Given the description of an element on the screen output the (x, y) to click on. 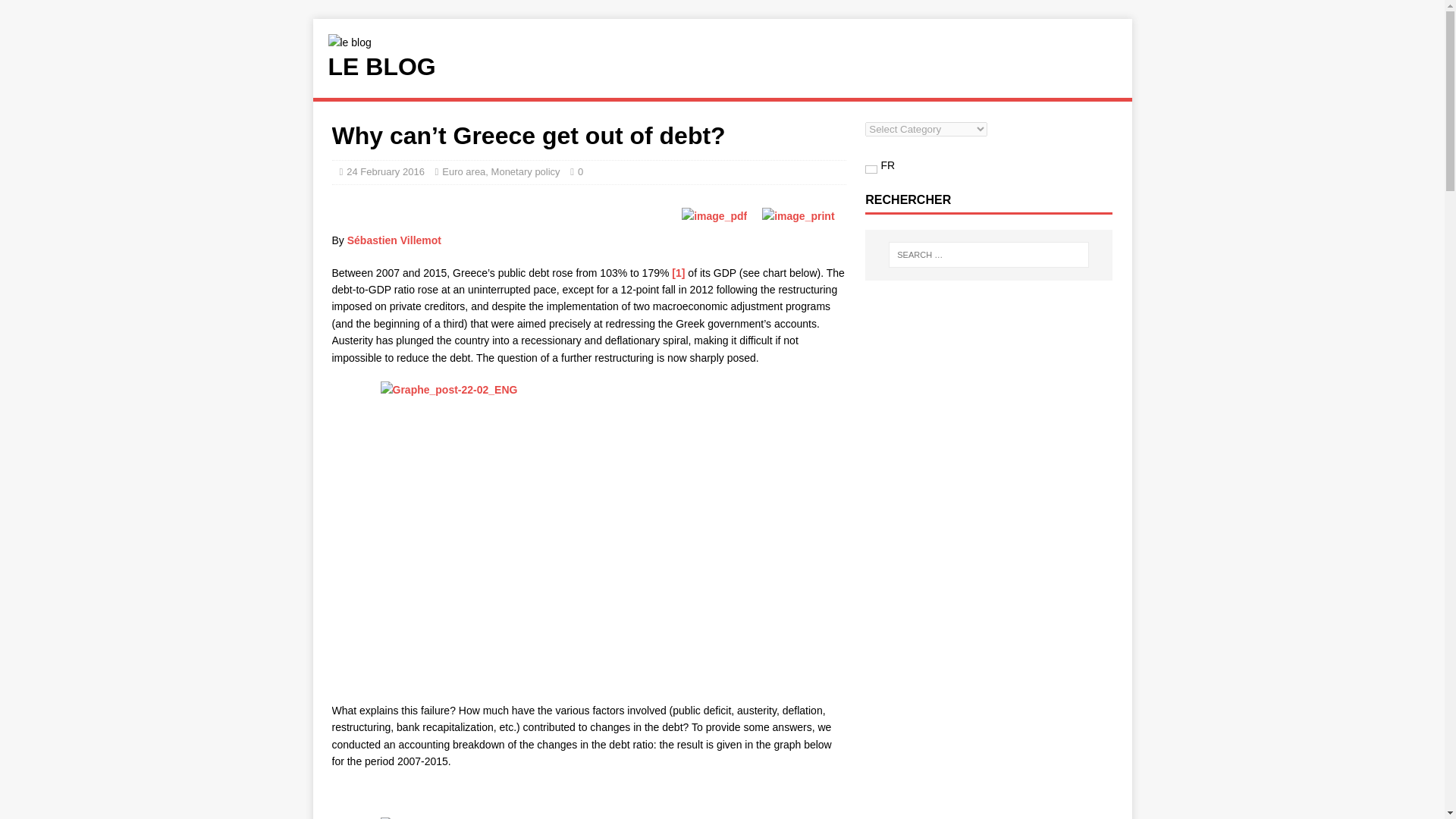
View PDF (714, 215)
Monetary policy (526, 171)
24 February 2016 (385, 171)
le blog (721, 66)
LE BLOG (721, 66)
Print Content (798, 215)
Euro area (463, 171)
FR (879, 164)
Search (56, 11)
